Given the description of an element on the screen output the (x, y) to click on. 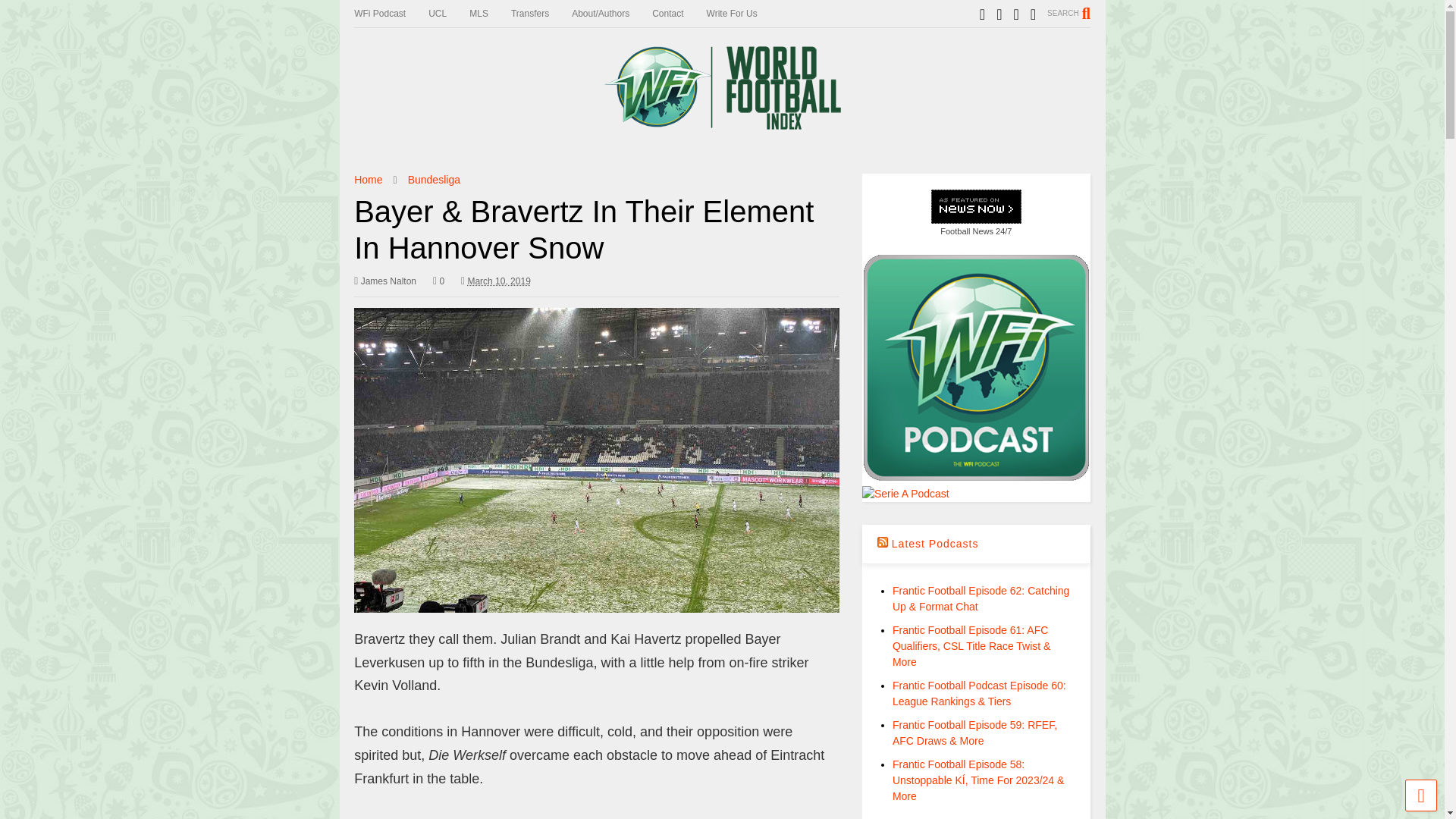
March 10, 2019 (496, 281)
UCL (448, 13)
Bundesliga (433, 179)
World Football Index (721, 123)
Home (367, 179)
James Nalton (384, 281)
Write For Us (743, 13)
March 10, 2019 8:38 pm (498, 281)
Transfers (541, 13)
MLS (489, 13)
Click here for more Football news from NewsNow (976, 213)
James Nalton (384, 281)
Contact (679, 13)
WFi Podcast (390, 13)
SEARCH (1068, 13)
